Given the description of an element on the screen output the (x, y) to click on. 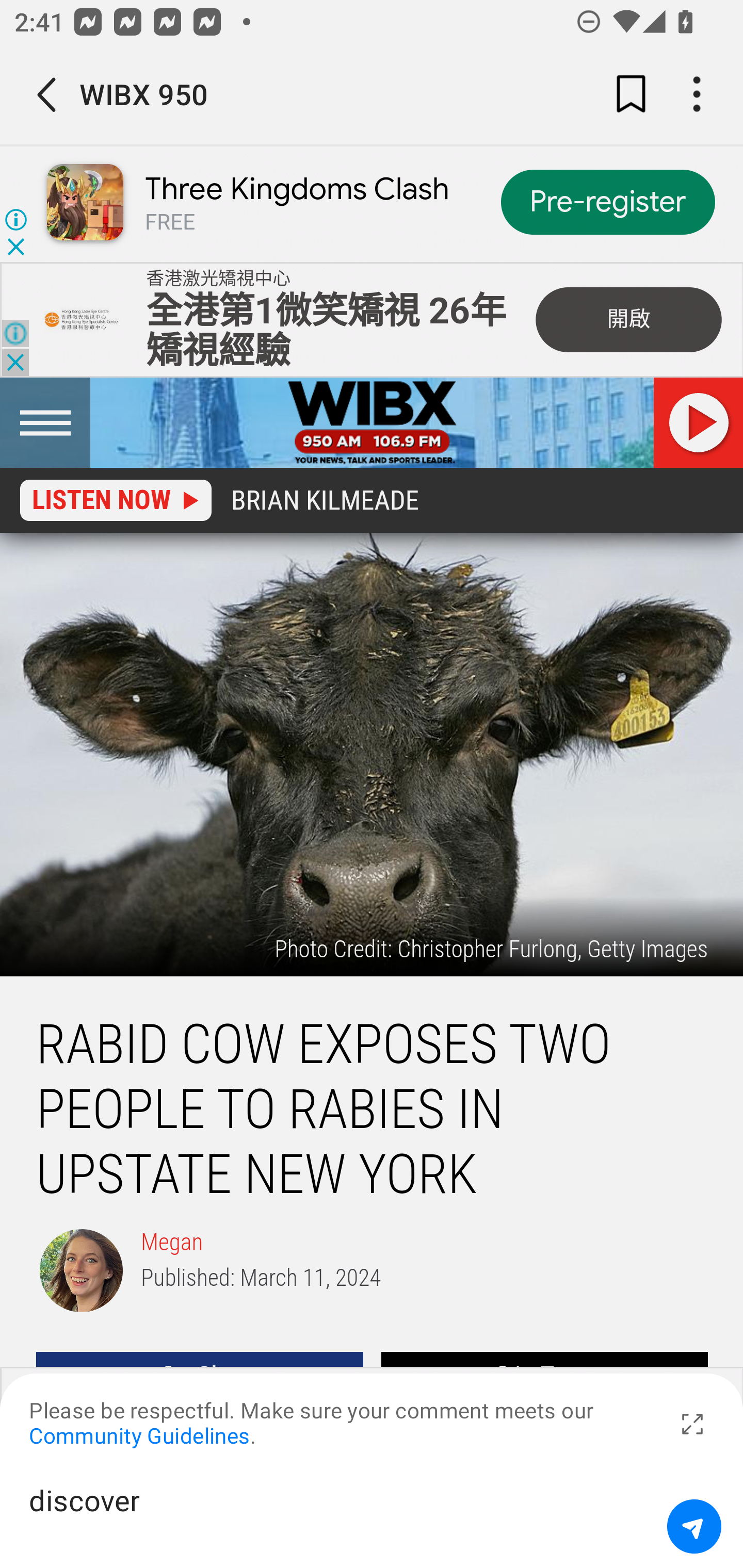
discover
 (340, 1516)
